Given the description of an element on the screen output the (x, y) to click on. 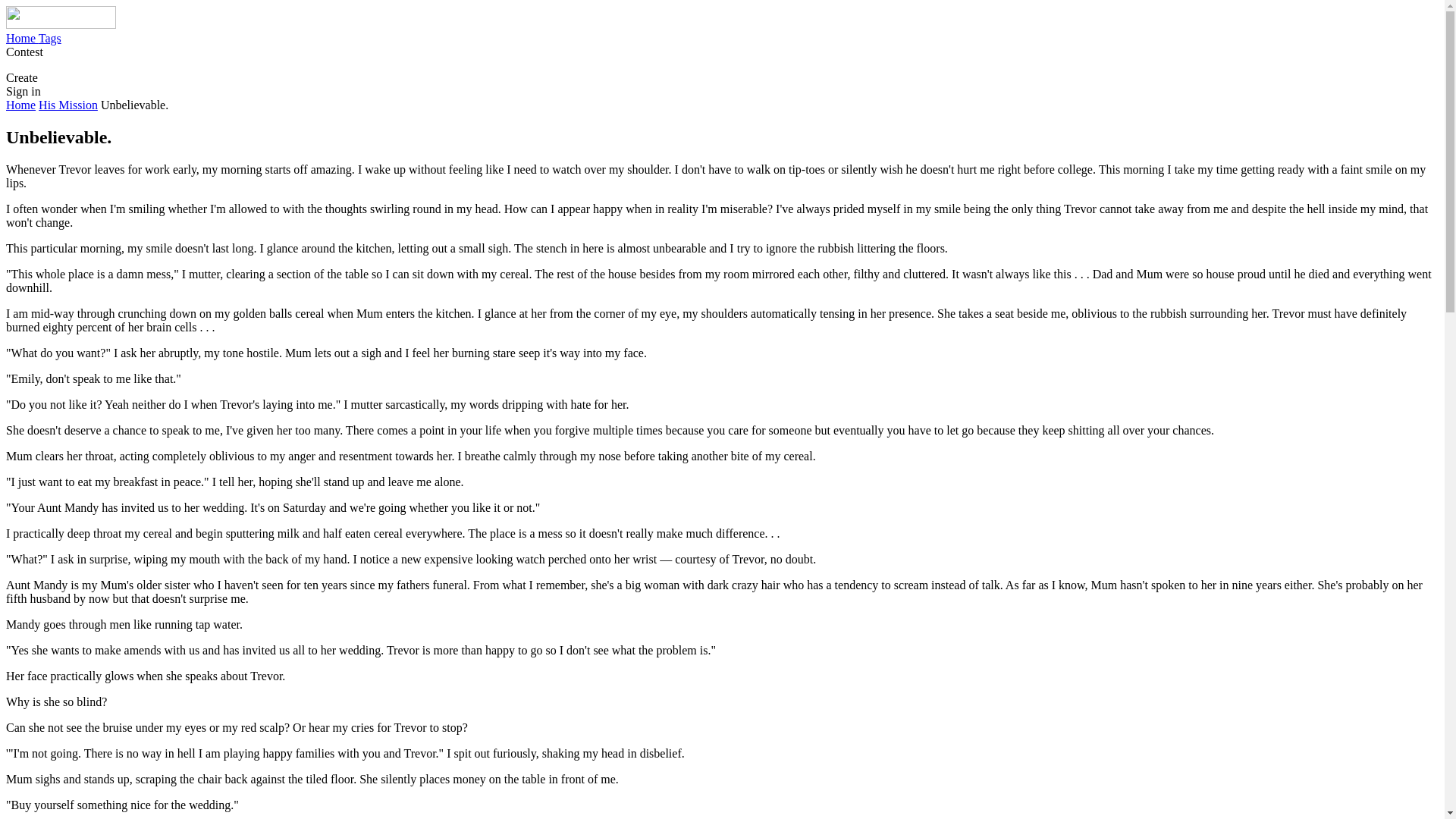
His Mission (68, 104)
Sign in (22, 91)
Home (22, 38)
Create (21, 77)
Tags (50, 38)
Home (19, 104)
